Given the description of an element on the screen output the (x, y) to click on. 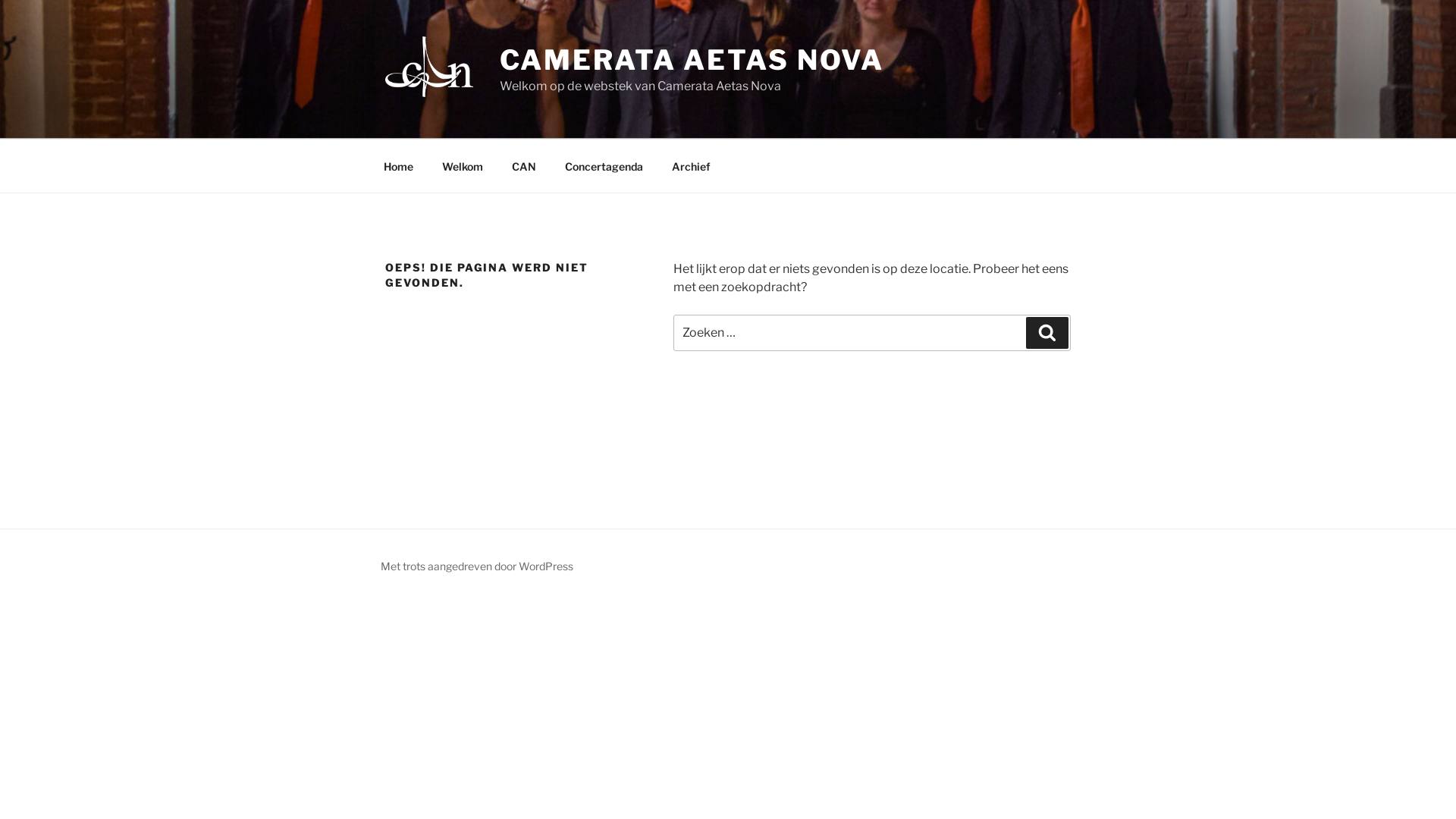
CAN Element type: text (523, 165)
Archief Element type: text (690, 165)
Concertagenda Element type: text (603, 165)
Welkom Element type: text (461, 165)
CAMERATA AETAS NOVA Element type: text (691, 59)
Home Element type: text (398, 165)
Zoeken Element type: text (1047, 332)
Met trots aangedreven door WordPress Element type: text (476, 565)
